Given the description of an element on the screen output the (x, y) to click on. 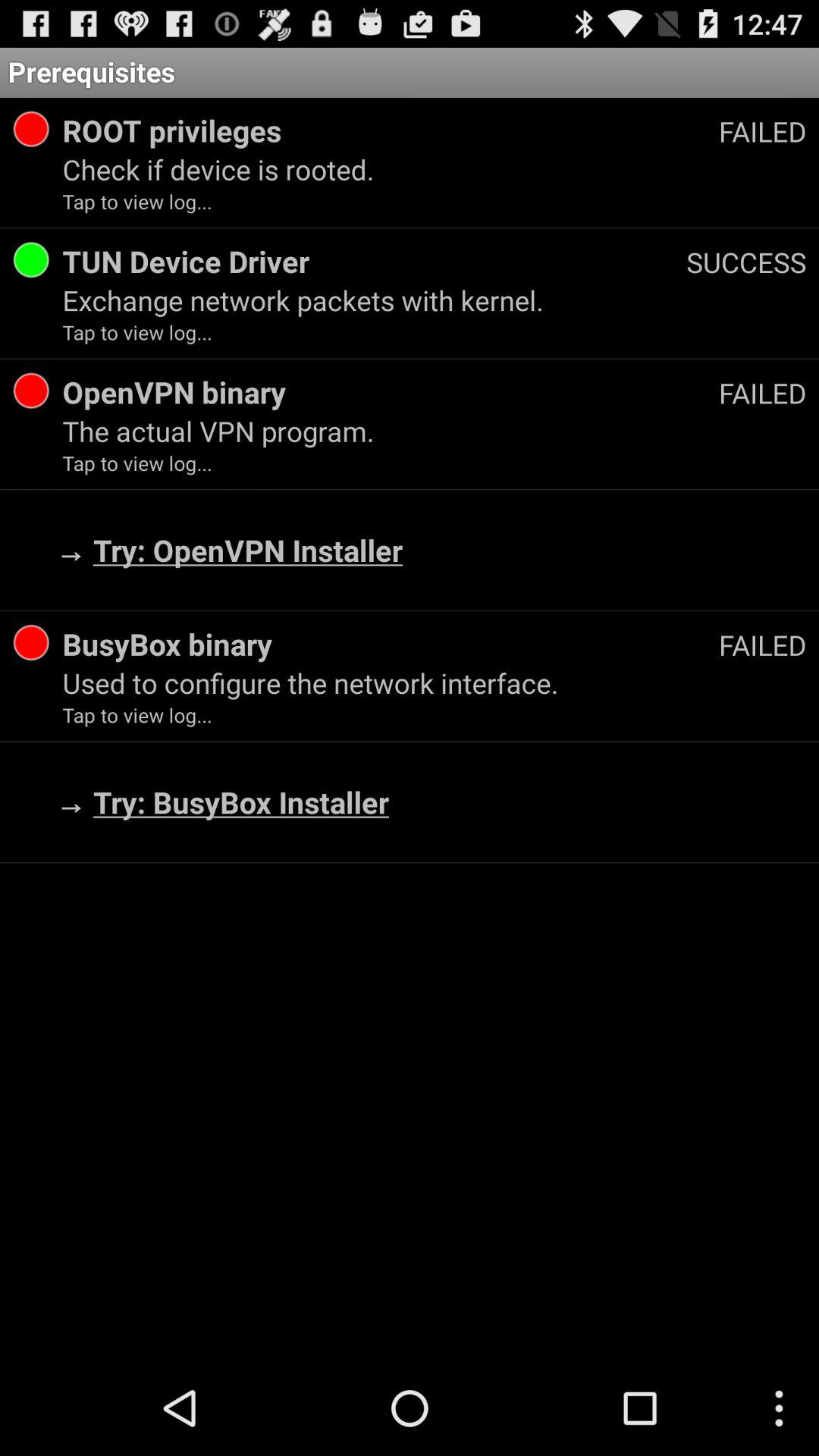
turn off the app next to tun device driver app (746, 261)
